Given the description of an element on the screen output the (x, y) to click on. 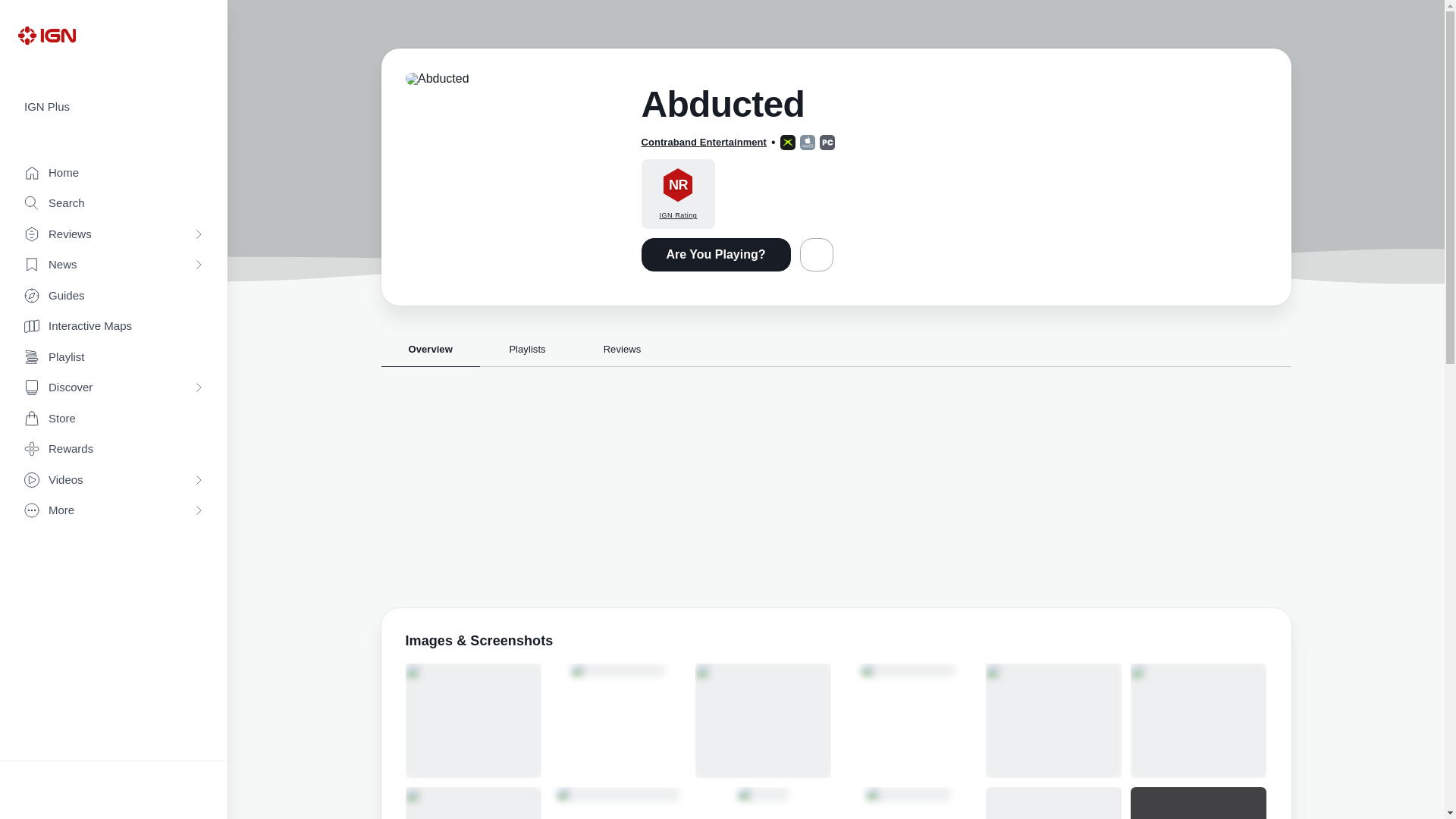
Guides (113, 295)
Macintosh (807, 142)
Reviews (113, 234)
News (113, 265)
Store (113, 418)
Rewards (113, 449)
Store (113, 418)
More (113, 510)
Home (113, 172)
Xbox (787, 142)
Videos (113, 480)
IGN Plus (113, 107)
Search (113, 203)
Videos (113, 480)
Guides (113, 295)
